Given the description of an element on the screen output the (x, y) to click on. 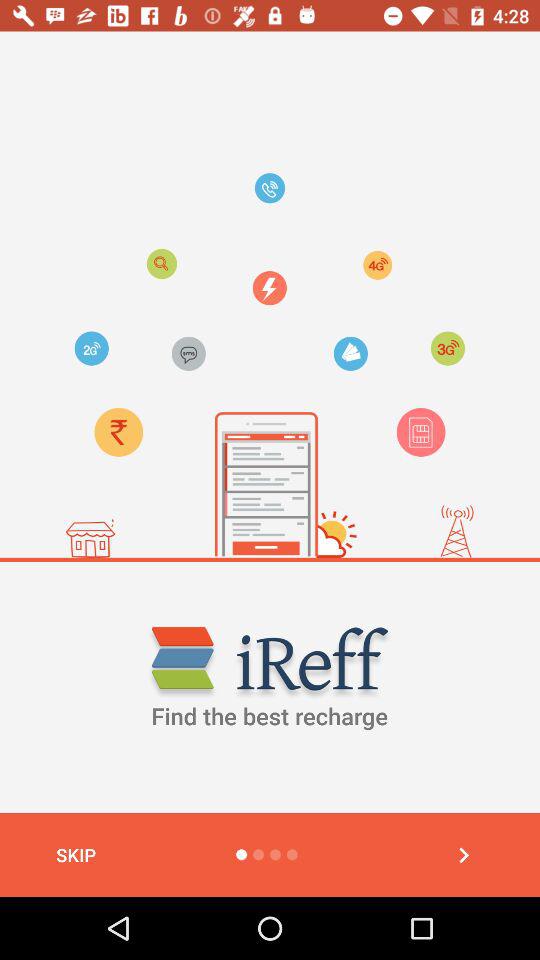
go to back (463, 855)
